Given the description of an element on the screen output the (x, y) to click on. 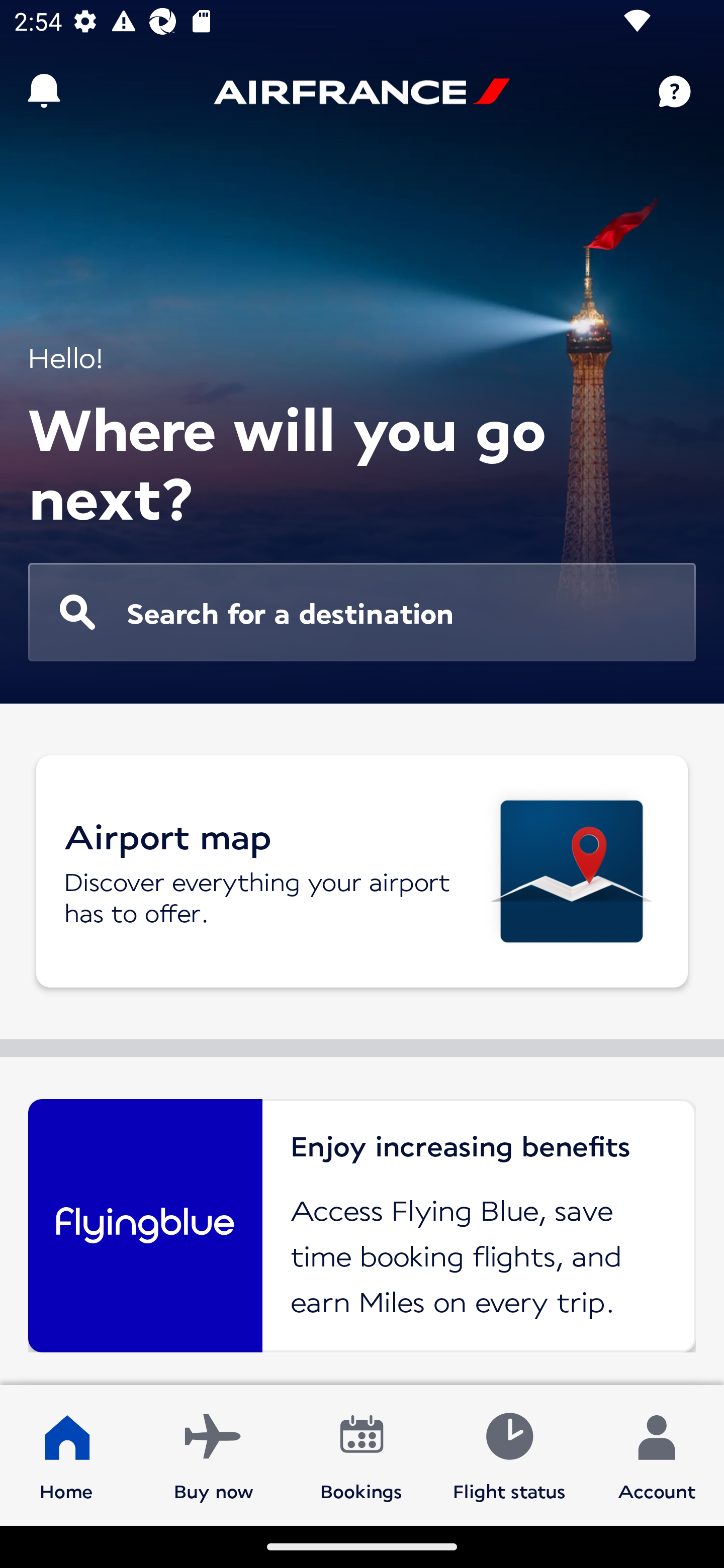
Search for a destination (361, 611)
Buy now (213, 1454)
Bookings (361, 1454)
Flight status (509, 1454)
Account (657, 1454)
